Given the description of an element on the screen output the (x, y) to click on. 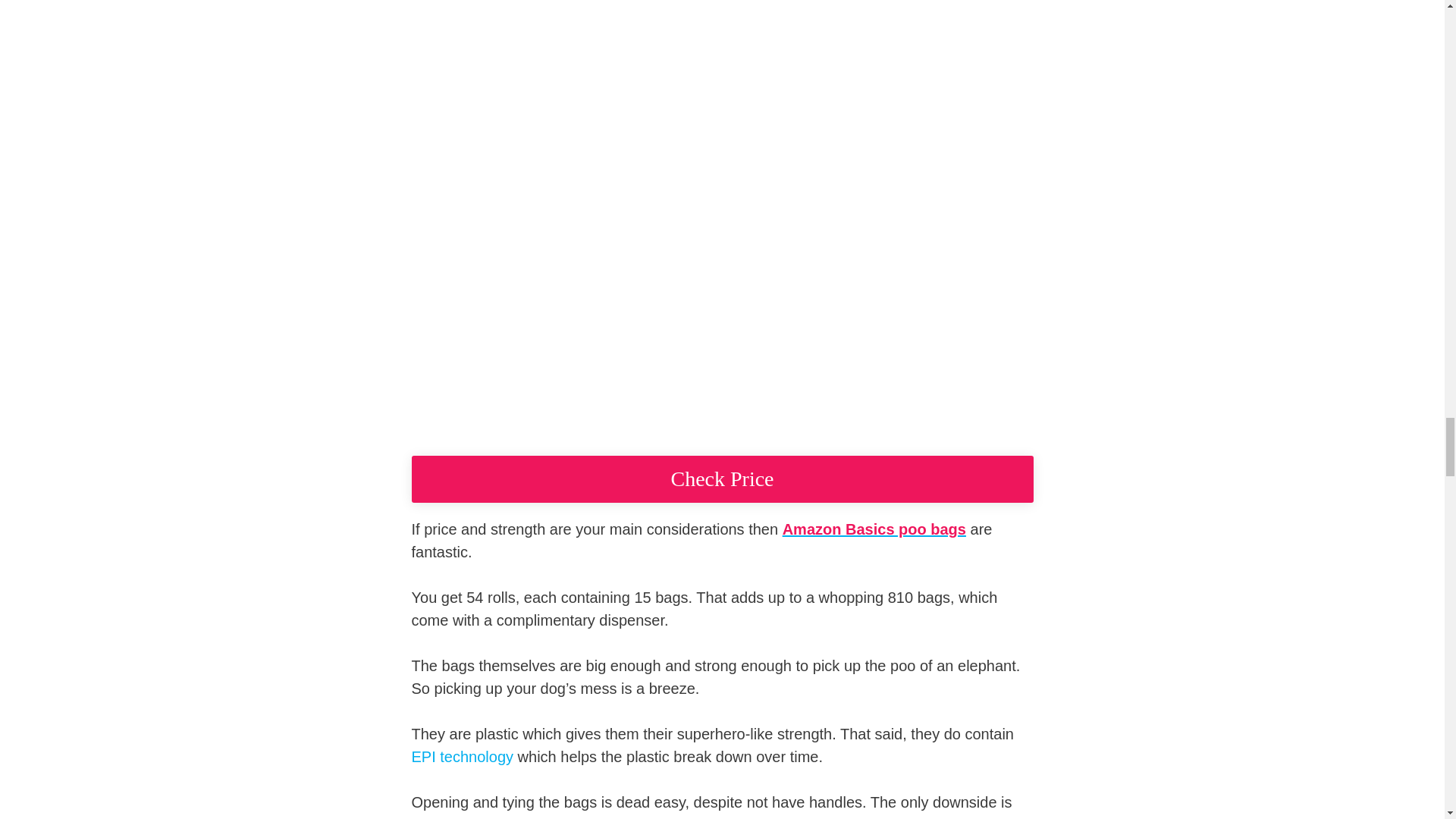
Amazon Basics poo bags (874, 528)
EPI technology (461, 756)
Check Price (721, 478)
